Given the description of an element on the screen output the (x, y) to click on. 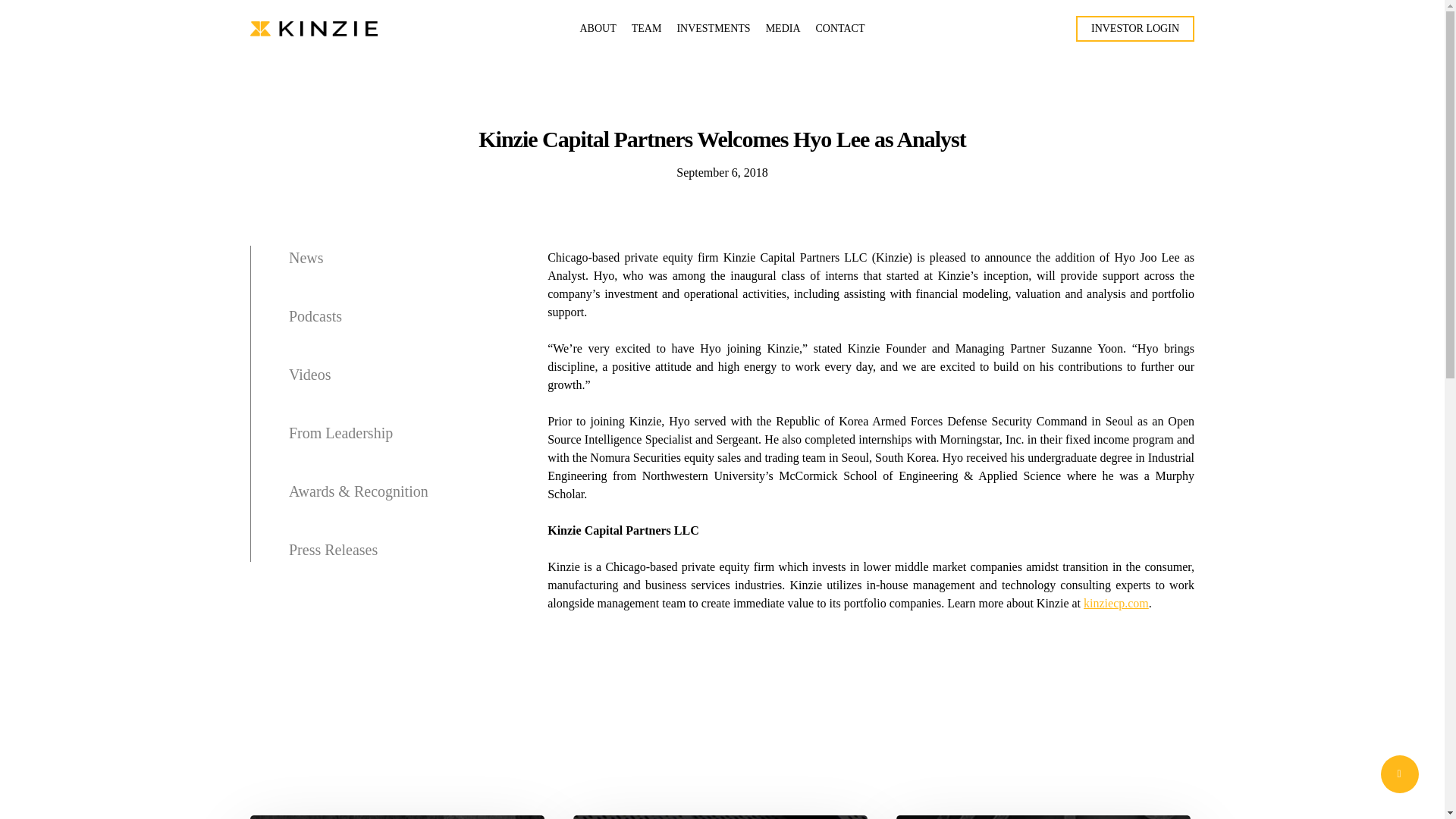
kinziecp.com (1115, 603)
MEDIA (782, 28)
INVESTMENTS (713, 28)
TEAM (646, 28)
Videos (379, 391)
Podcasts (379, 333)
Press Releases (379, 549)
CONTACT (839, 28)
INVESTOR LOGIN (1134, 28)
ABOUT (597, 28)
